Given the description of an element on the screen output the (x, y) to click on. 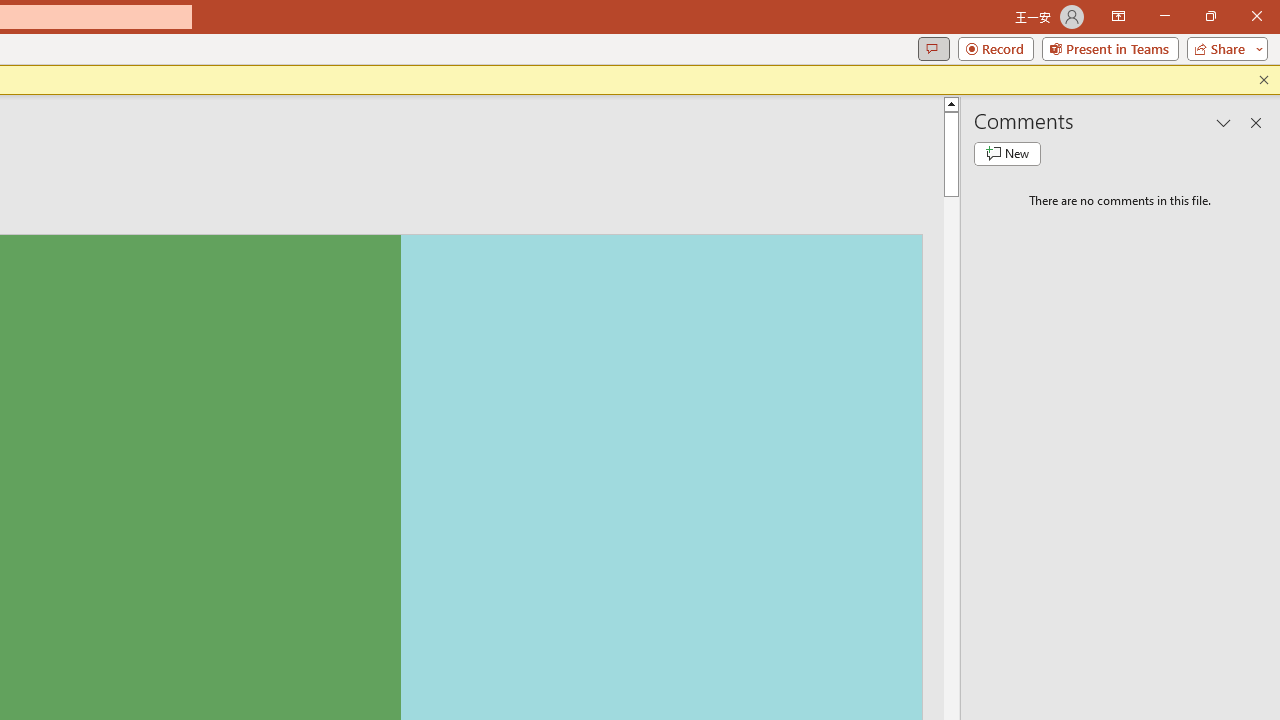
New comment (1007, 153)
Close this message (1263, 80)
